Given the description of an element on the screen output the (x, y) to click on. 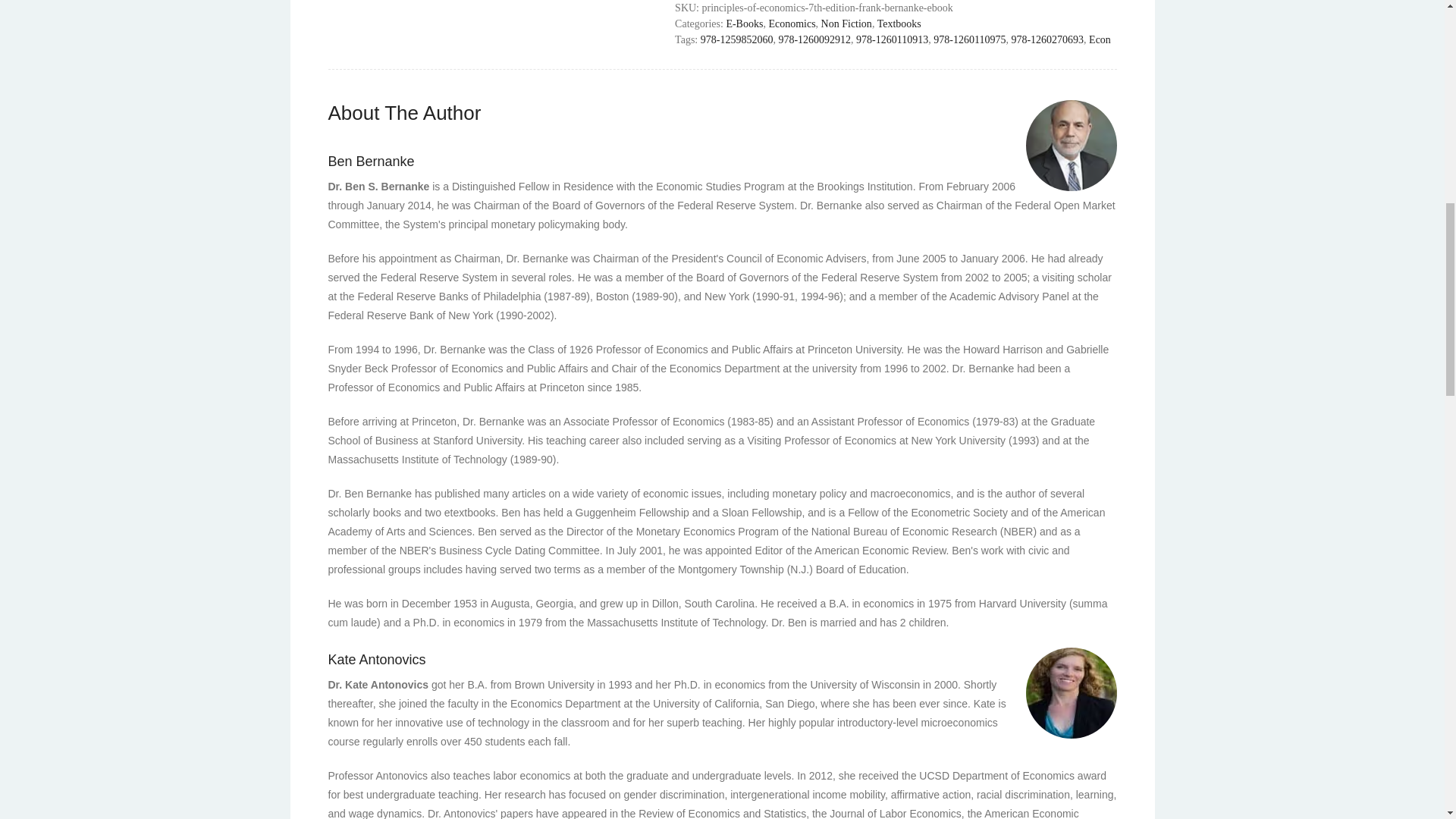
Non Fiction (846, 23)
978-1259852060 (736, 39)
Textbooks (899, 23)
E-Books (743, 23)
Economics (791, 23)
978-1260270693 (1046, 39)
978-1260092912 (813, 39)
Econ (1099, 39)
978-1260110913 (892, 39)
978-1260110975 (969, 39)
